Given the description of an element on the screen output the (x, y) to click on. 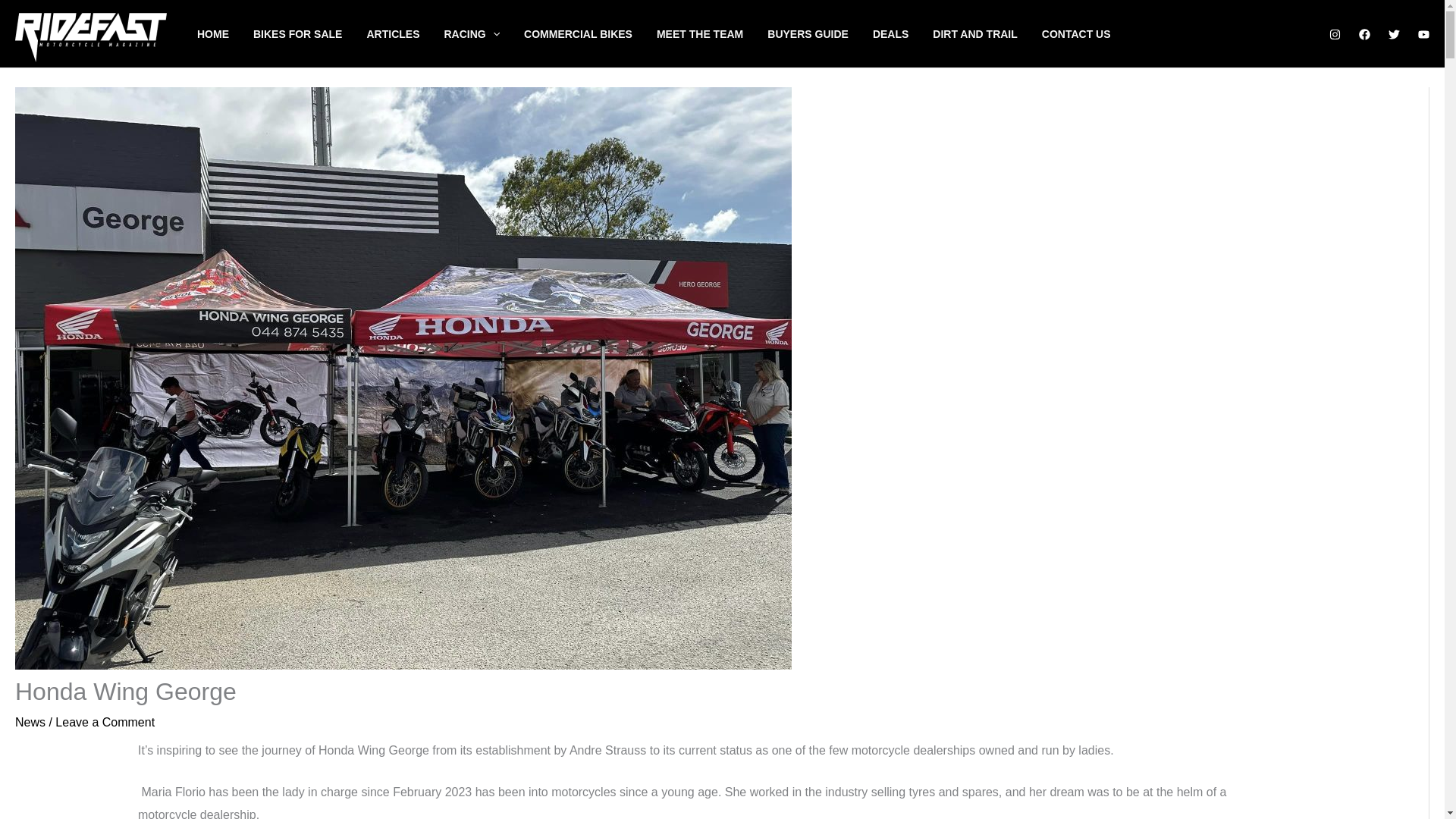
CONTACT US (1088, 33)
DIRT AND TRAIL (987, 33)
BIKES FOR SALE (309, 33)
ARTICLES (405, 33)
HOME (224, 33)
RACING (484, 33)
DEALS (902, 33)
COMMERCIAL BIKES (590, 33)
BUYERS GUIDE (819, 33)
MEET THE TEAM (711, 33)
